Given the description of an element on the screen output the (x, y) to click on. 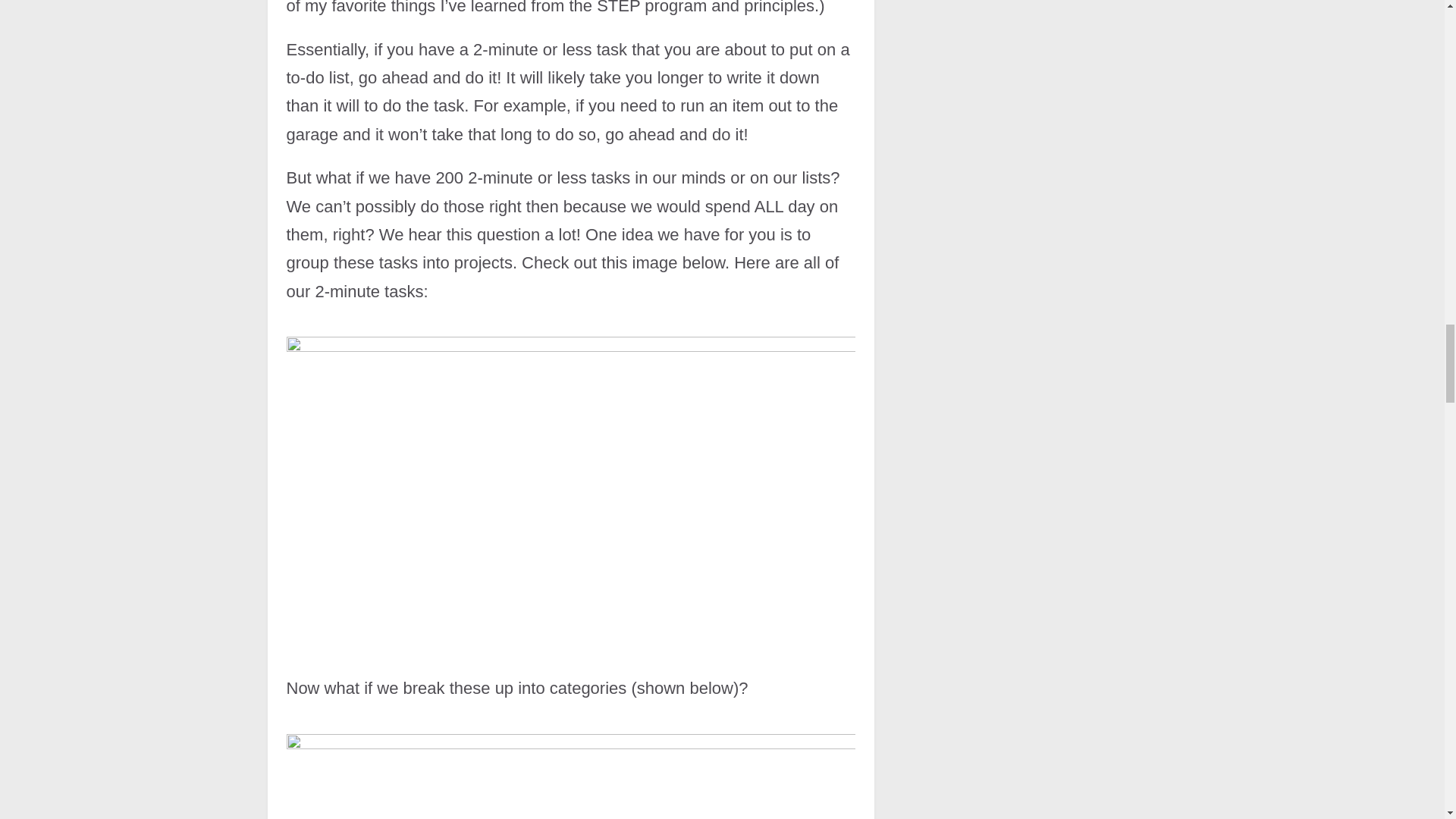
Screen Shot 2023-11-18 at 9.35.30 PM (571, 774)
